Given the description of an element on the screen output the (x, y) to click on. 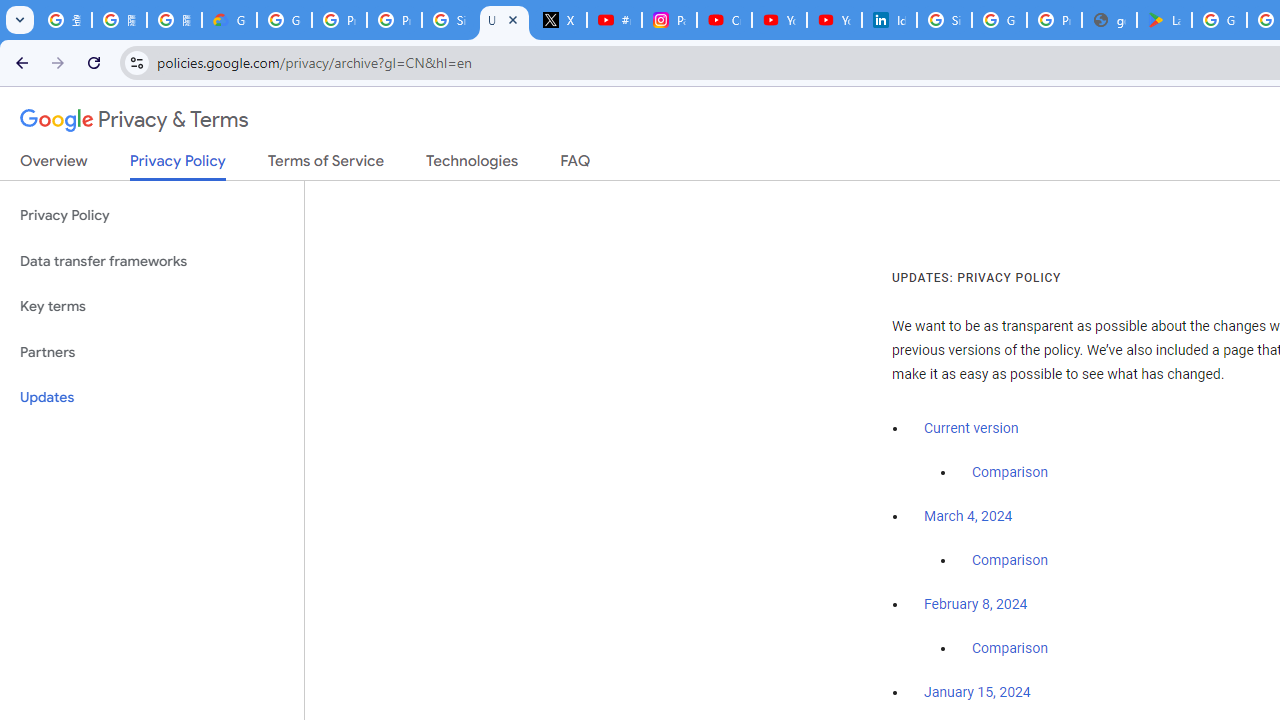
Comparison (1009, 649)
Google Cloud Privacy Notice (229, 20)
Current version (971, 428)
Last Shelter: Survival - Apps on Google Play (1163, 20)
YouTube Culture & Trends - YouTube Top 10, 2021 (833, 20)
February 8, 2024 (975, 605)
X (559, 20)
